Given the description of an element on the screen output the (x, y) to click on. 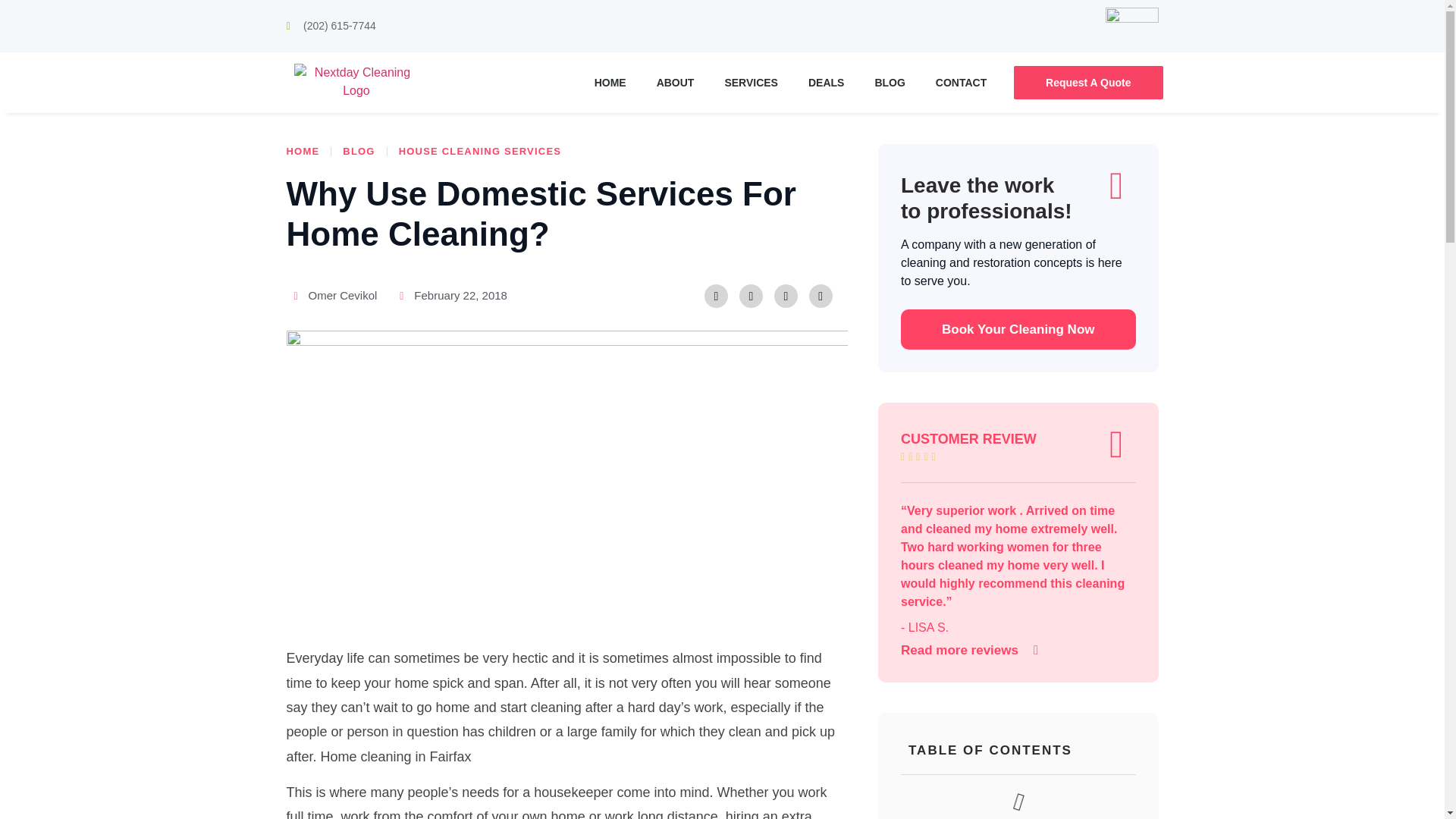
HOME (610, 82)
DEALS (826, 82)
ABOUT (676, 82)
CONTACT (960, 82)
BLOG (889, 82)
SERVICES (751, 82)
